Given the description of an element on the screen output the (x, y) to click on. 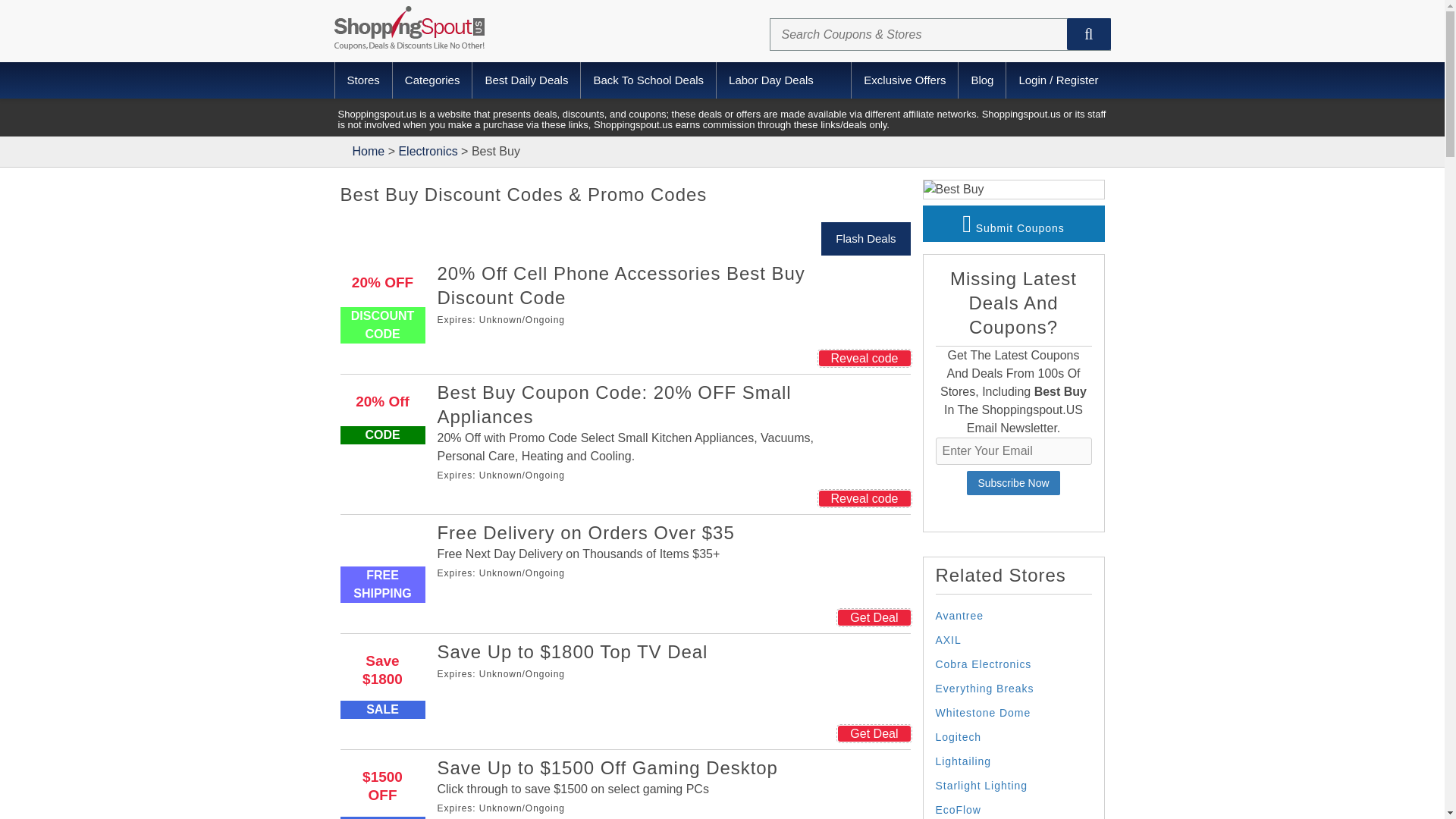
Subscribe Now (1012, 482)
Best Buy (953, 188)
Electronics (427, 151)
Cobra Electronics (984, 664)
Exclusive Offers (903, 79)
Flash Deals (865, 238)
ShoppingSpout US (408, 27)
EcoFlow (958, 809)
Best Buy (953, 189)
Everything Breaks (984, 688)
